Given the description of an element on the screen output the (x, y) to click on. 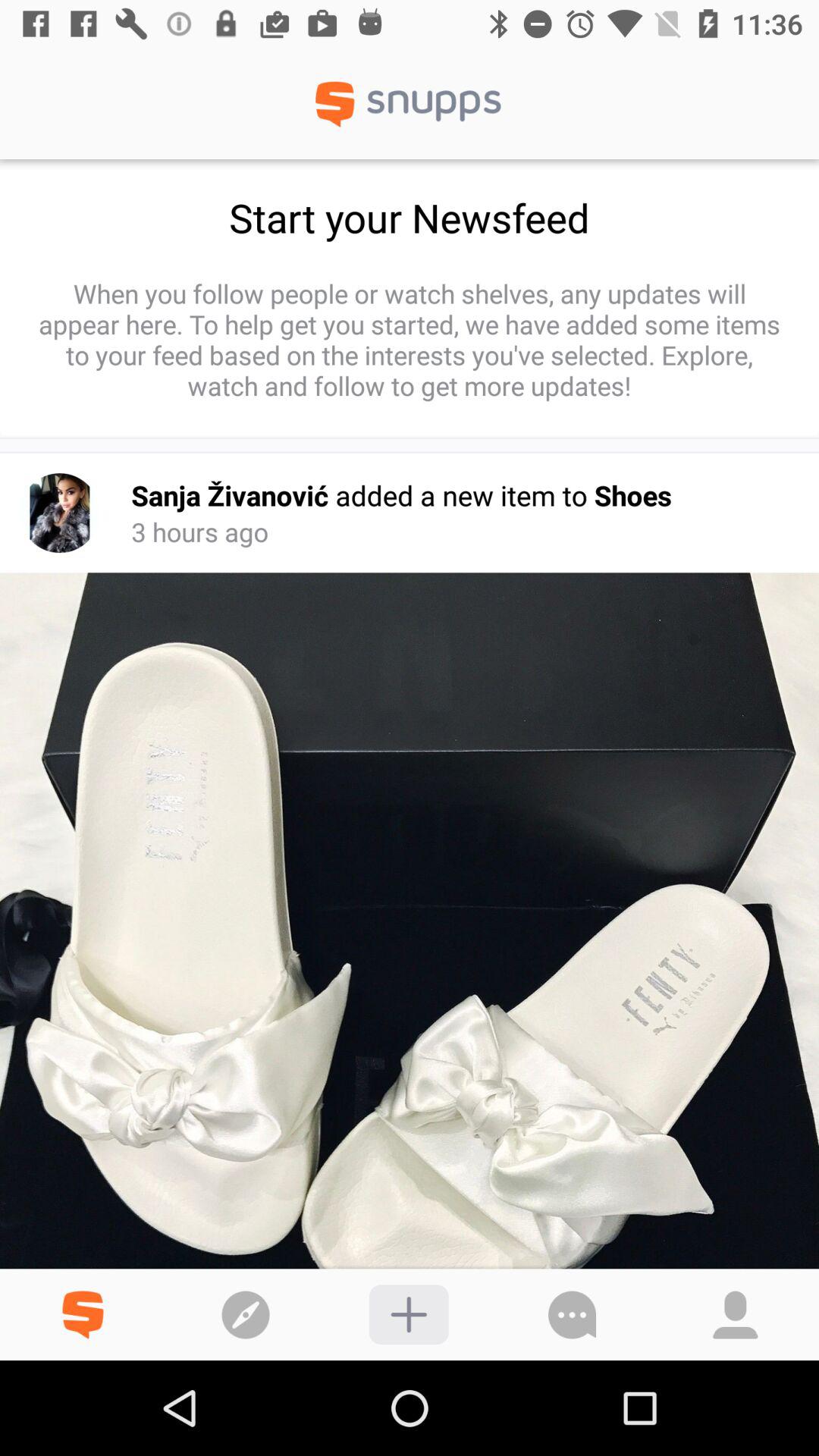
select item below when you follow item (59, 512)
